Given the description of an element on the screen output the (x, y) to click on. 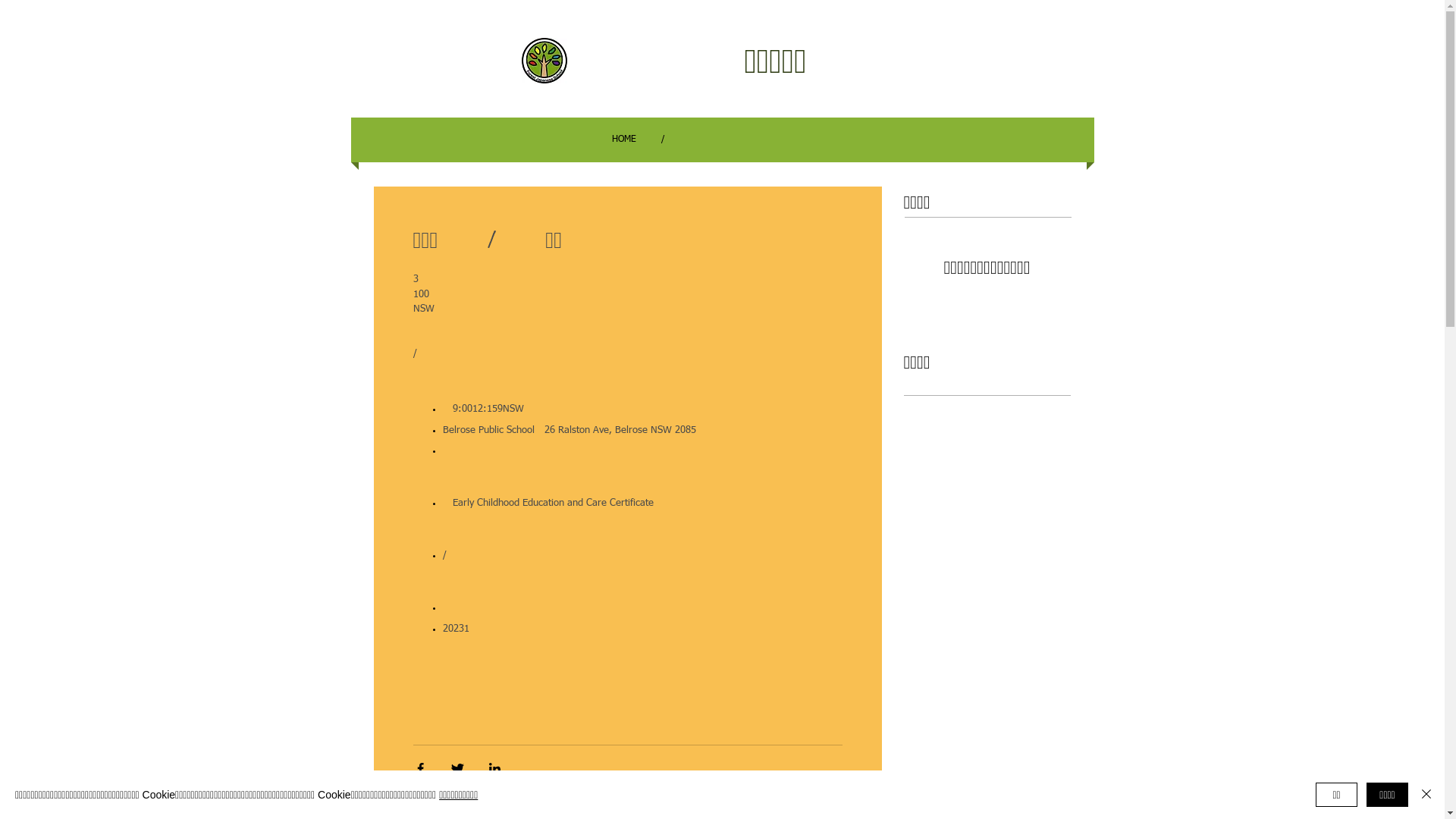
rogocolor3cm.jpg Element type: hover (544, 60)
HOME Element type: text (623, 139)
